Given the description of an element on the screen output the (x, y) to click on. 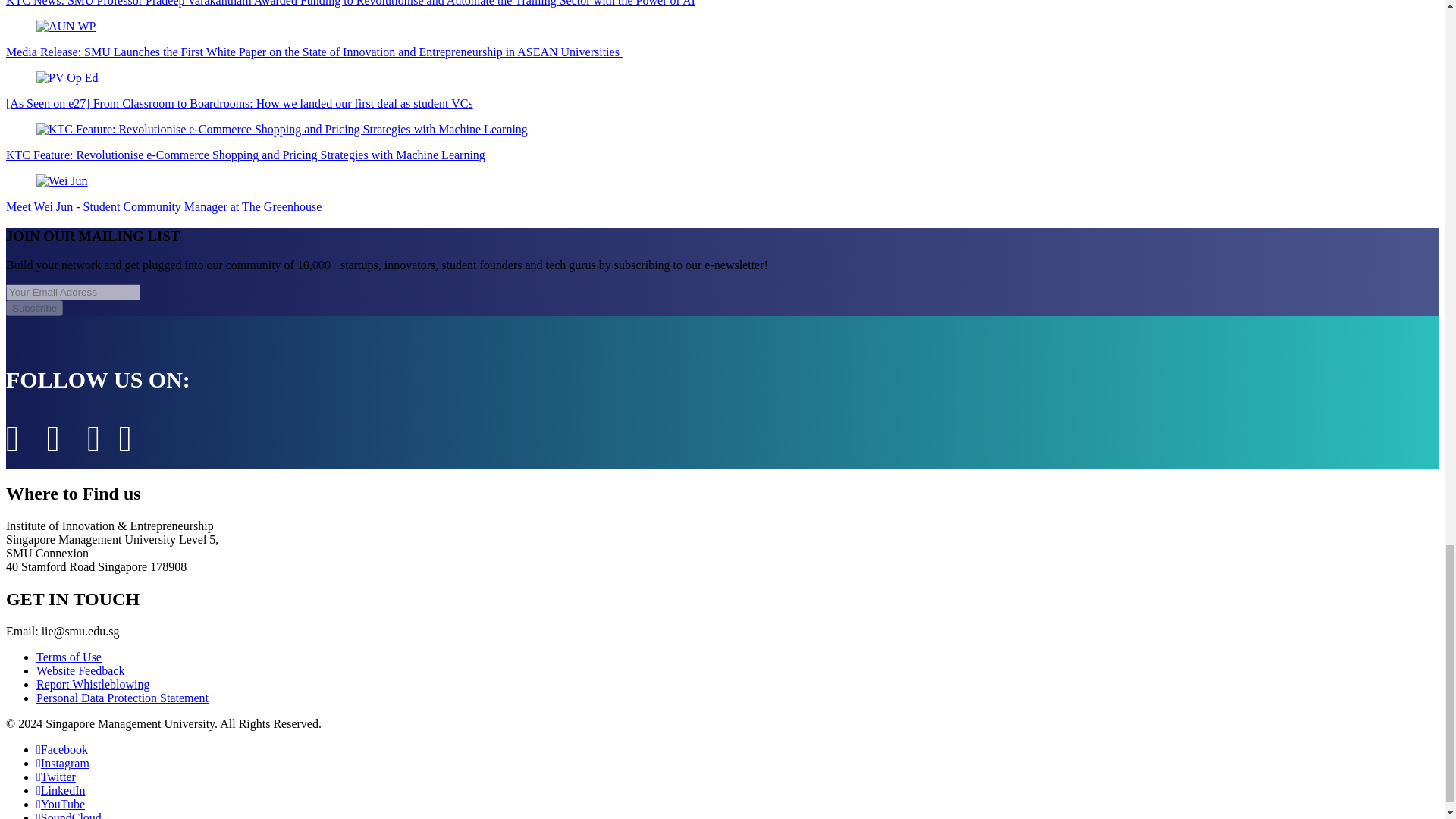
SMU on Facebook (61, 748)
SMU on YouTube (60, 803)
Subscribe (33, 308)
SMU on LinkedIn (60, 789)
